Given the description of an element on the screen output the (x, y) to click on. 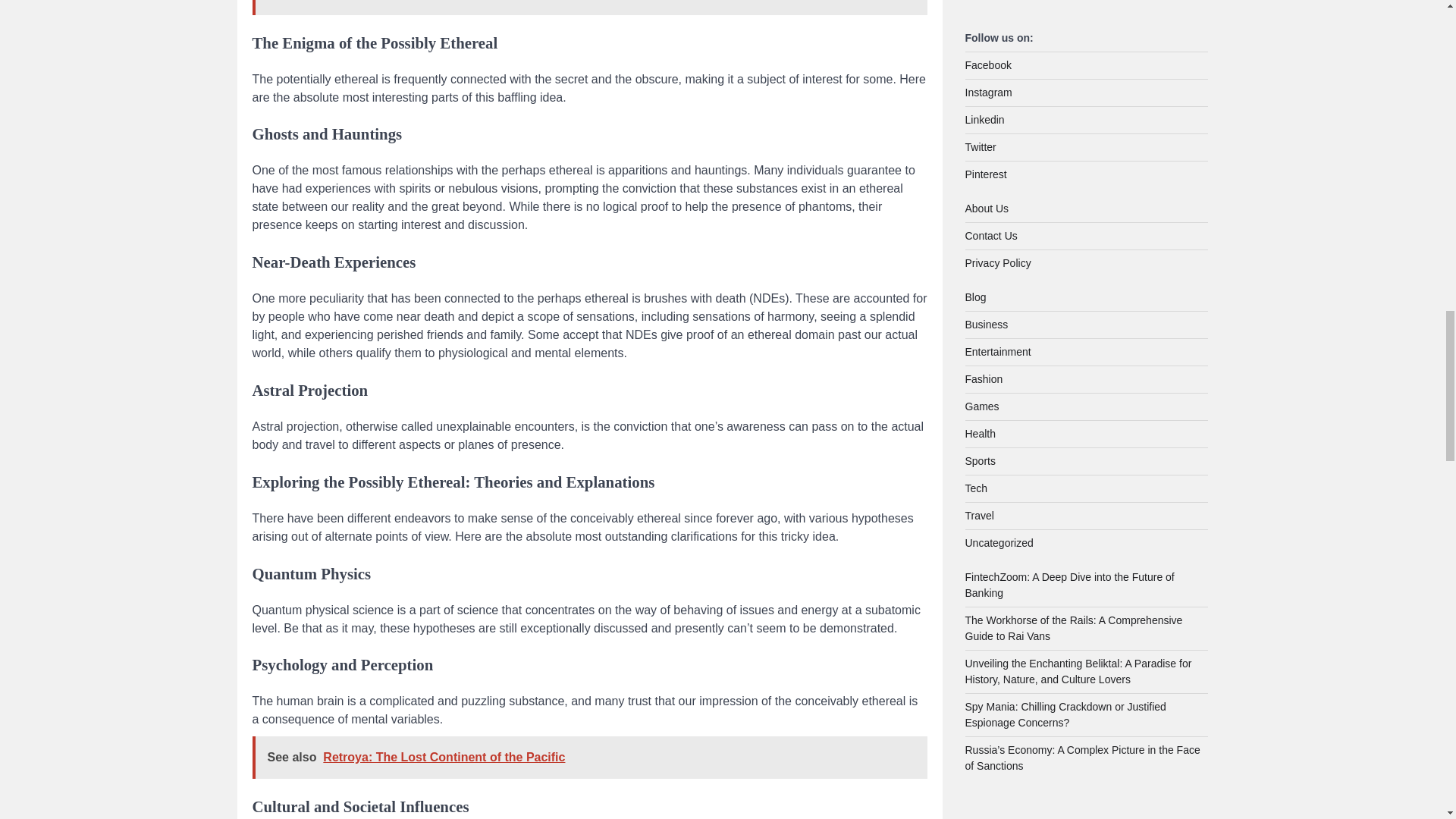
See also  Retroya: The Lost Continent of the Pacific (588, 757)
See also  Educator's Handbook: A Comprehensive Guide (588, 7)
